Given the description of an element on the screen output the (x, y) to click on. 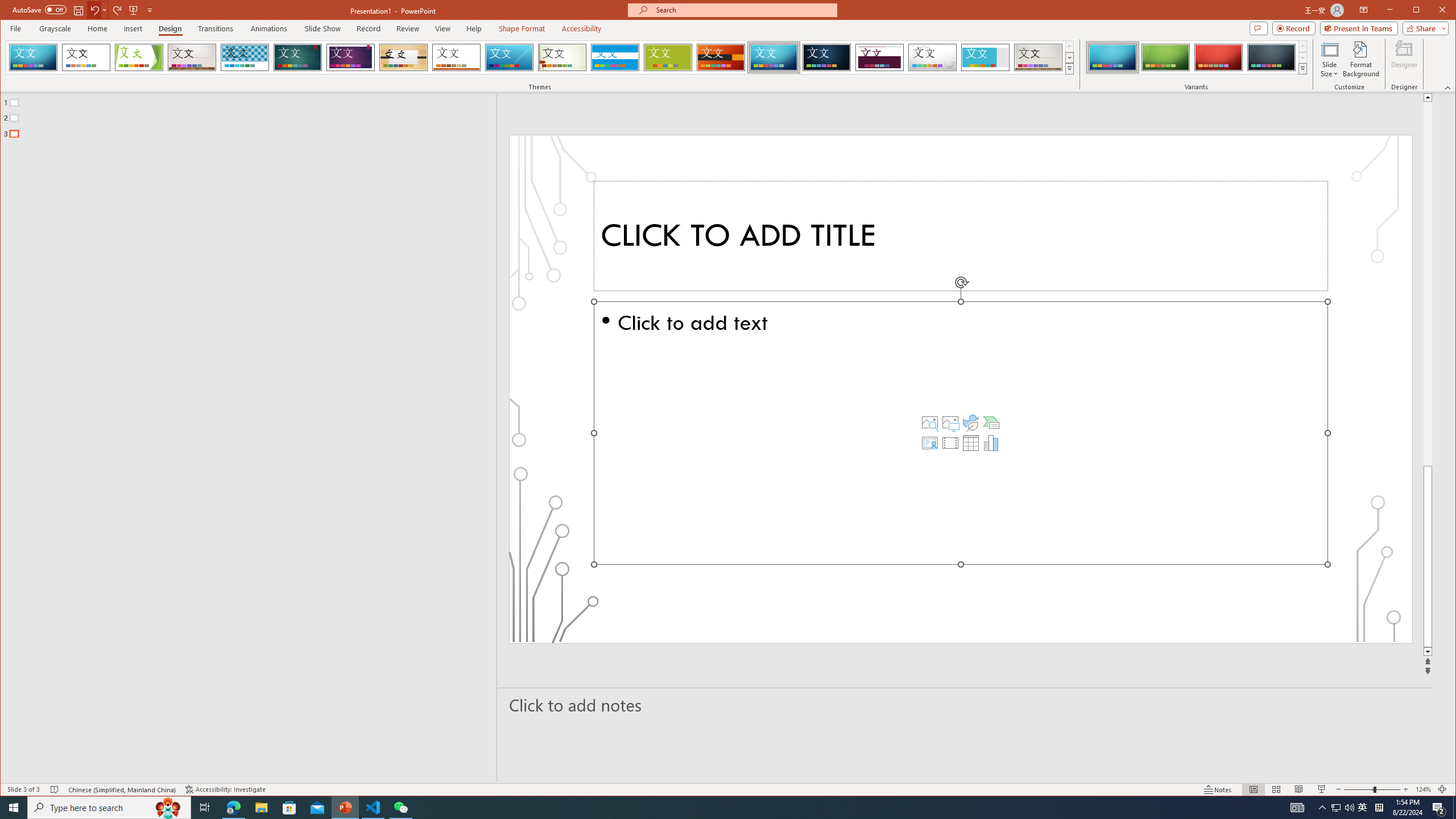
Insert Table (970, 443)
Insert an Icon (970, 422)
Outline (252, 115)
Grayscale (55, 28)
Slide Size (1328, 59)
Zoom 124% (1422, 789)
